Given the description of an element on the screen output the (x, y) to click on. 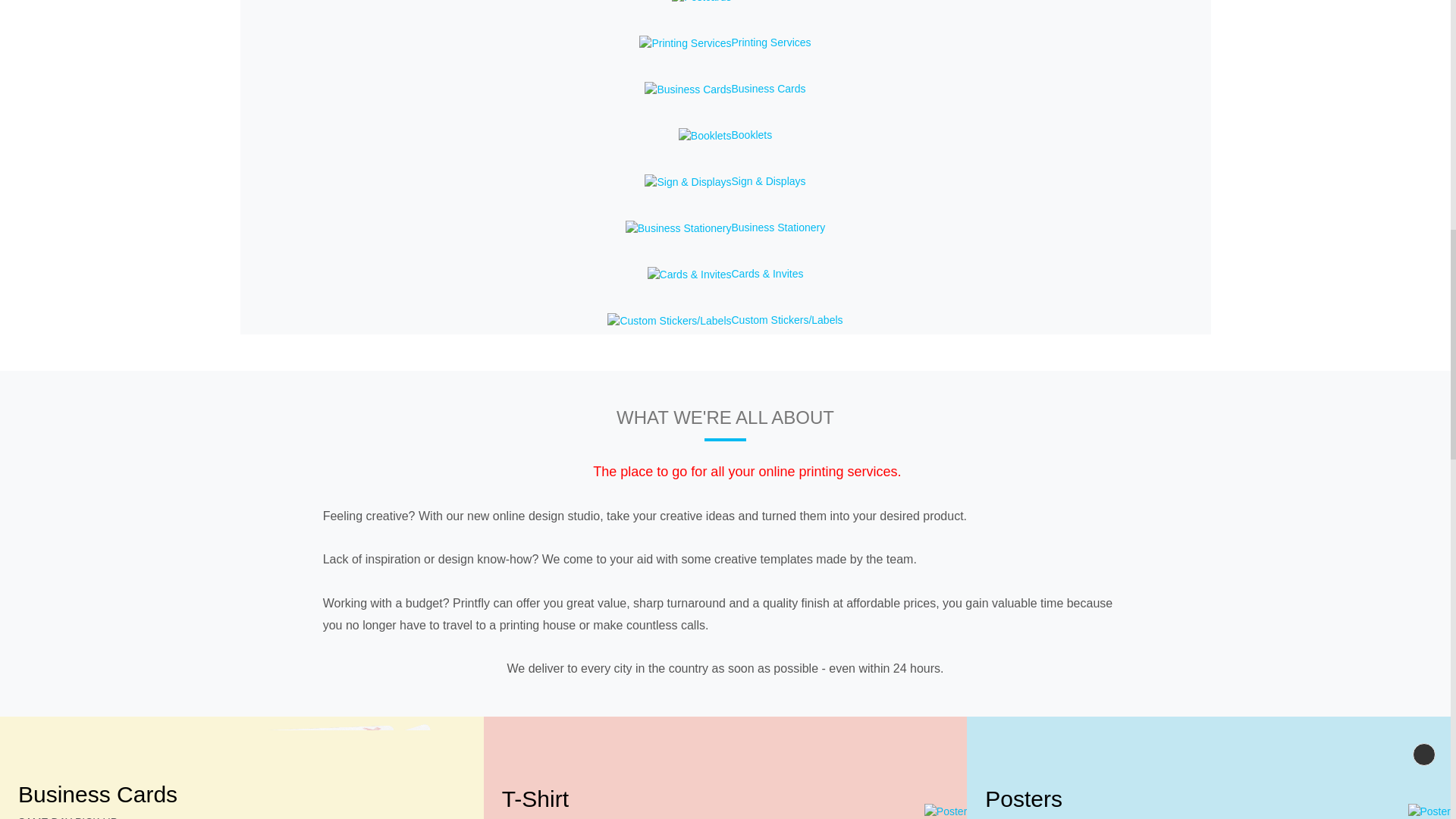
Business Cards (687, 89)
Business Stationery (679, 228)
Postcards (700, 2)
Printing Services (684, 43)
Booklets (705, 135)
